Given the description of an element on the screen output the (x, y) to click on. 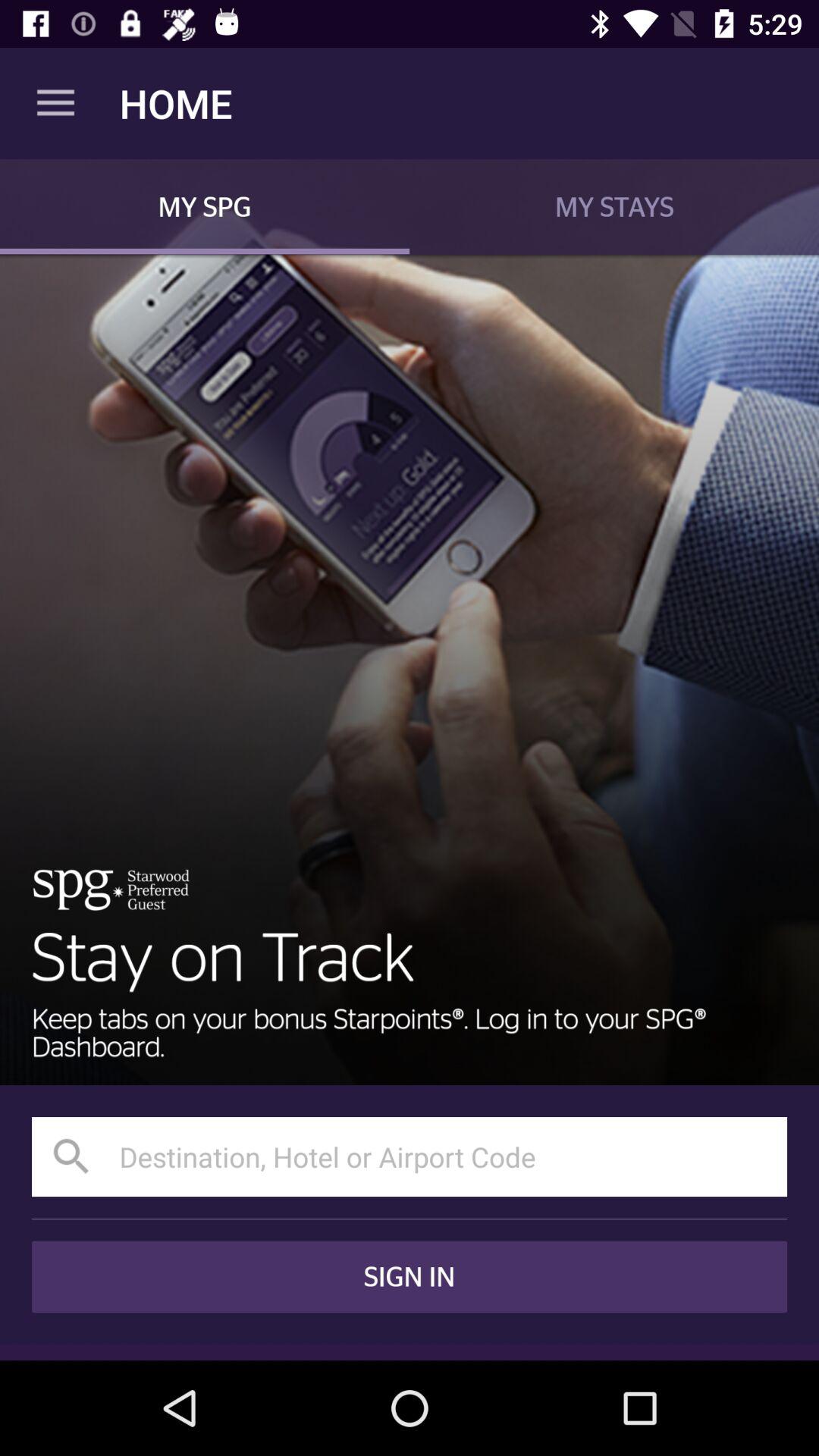
search menu (409, 1156)
